Given the description of an element on the screen output the (x, y) to click on. 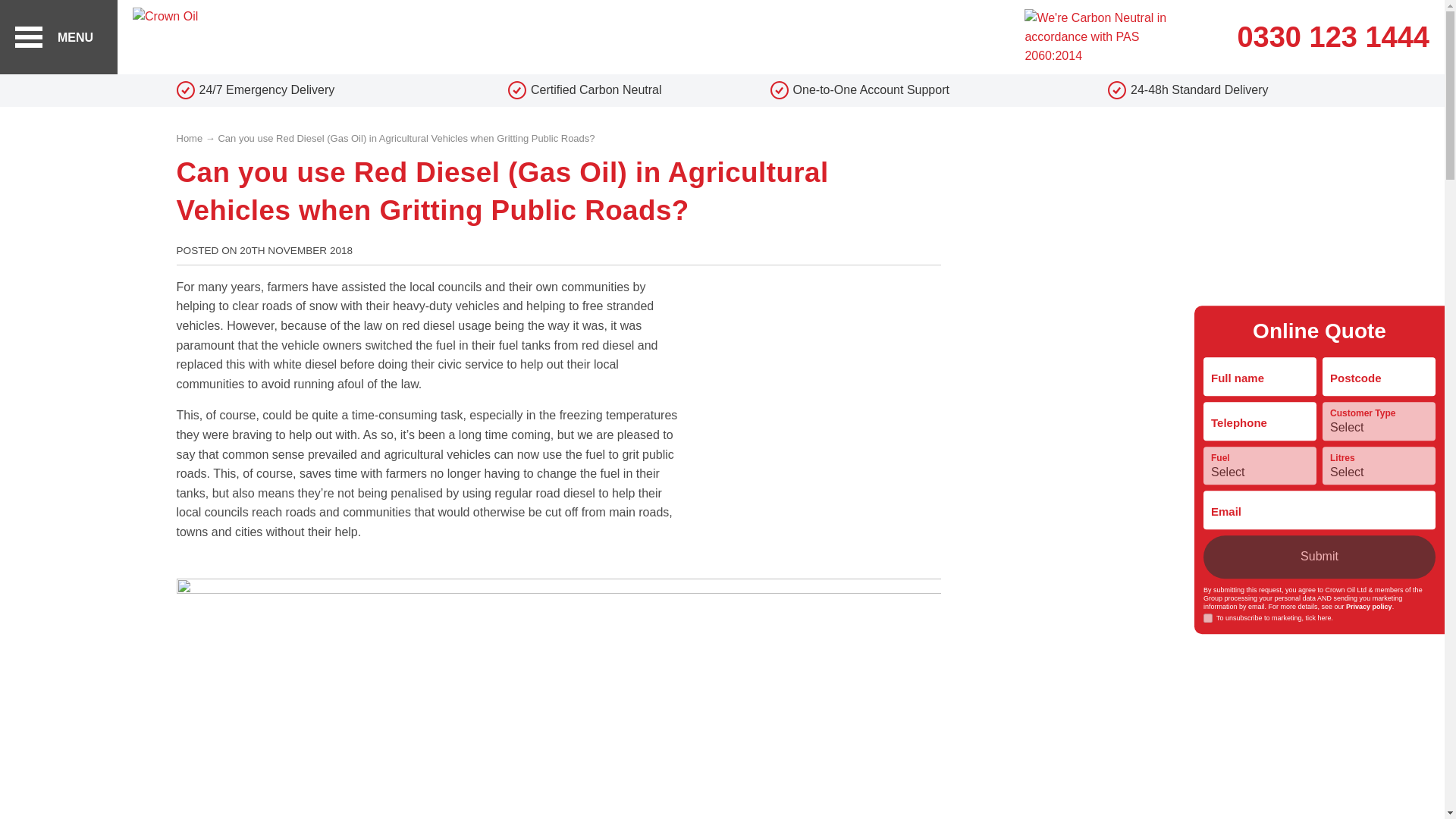
on (1208, 618)
Certified Carbon Neutral (585, 90)
MENU (58, 37)
24-48h Standard Delivery (1134, 90)
One-to-One Account Support (860, 90)
